Given the description of an element on the screen output the (x, y) to click on. 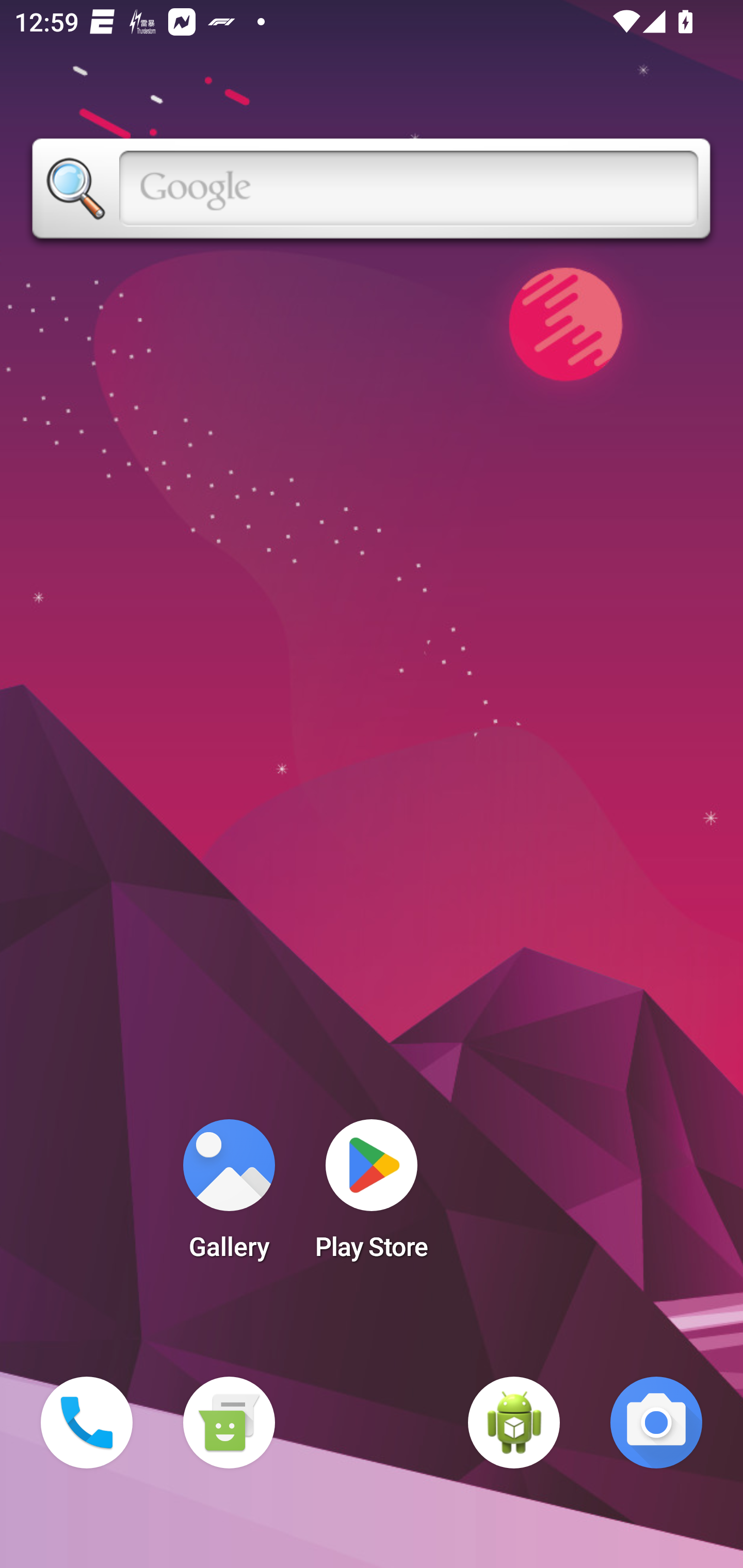
Gallery (228, 1195)
Play Store (371, 1195)
Phone (86, 1422)
Messaging (228, 1422)
WebView Browser Tester (513, 1422)
Camera (656, 1422)
